Given the description of an element on the screen output the (x, y) to click on. 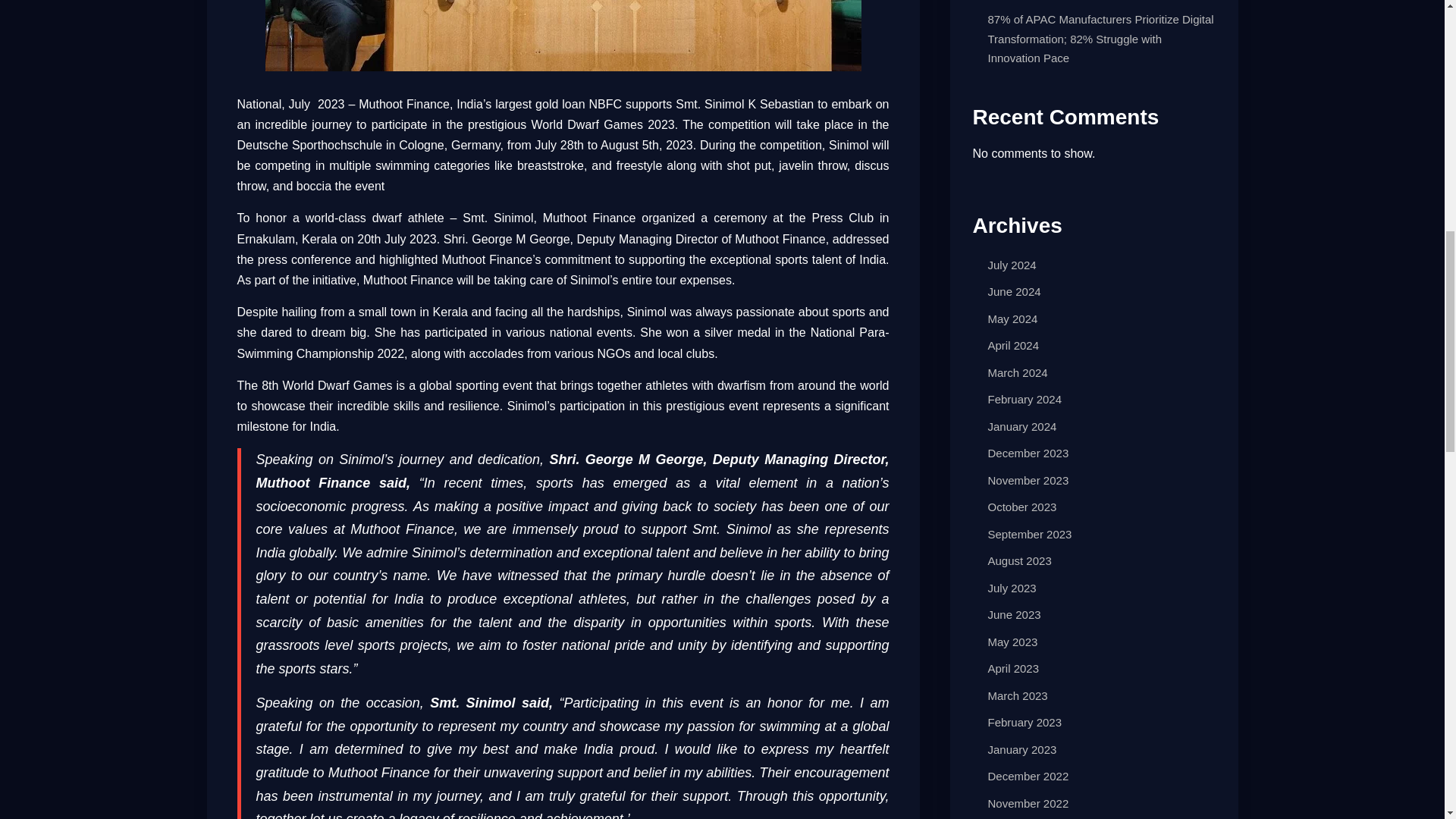
April 2023 (1013, 667)
November 2023 (1027, 480)
December 2023 (1027, 452)
September 2023 (1029, 533)
August 2023 (1019, 560)
July 2024 (1011, 264)
April 2024 (1013, 345)
January 2024 (1022, 426)
May 2023 (1011, 641)
June 2023 (1014, 614)
June 2024 (1014, 291)
March 2024 (1016, 372)
July 2023 (1011, 587)
October 2023 (1022, 506)
May 2024 (1011, 318)
